Given the description of an element on the screen output the (x, y) to click on. 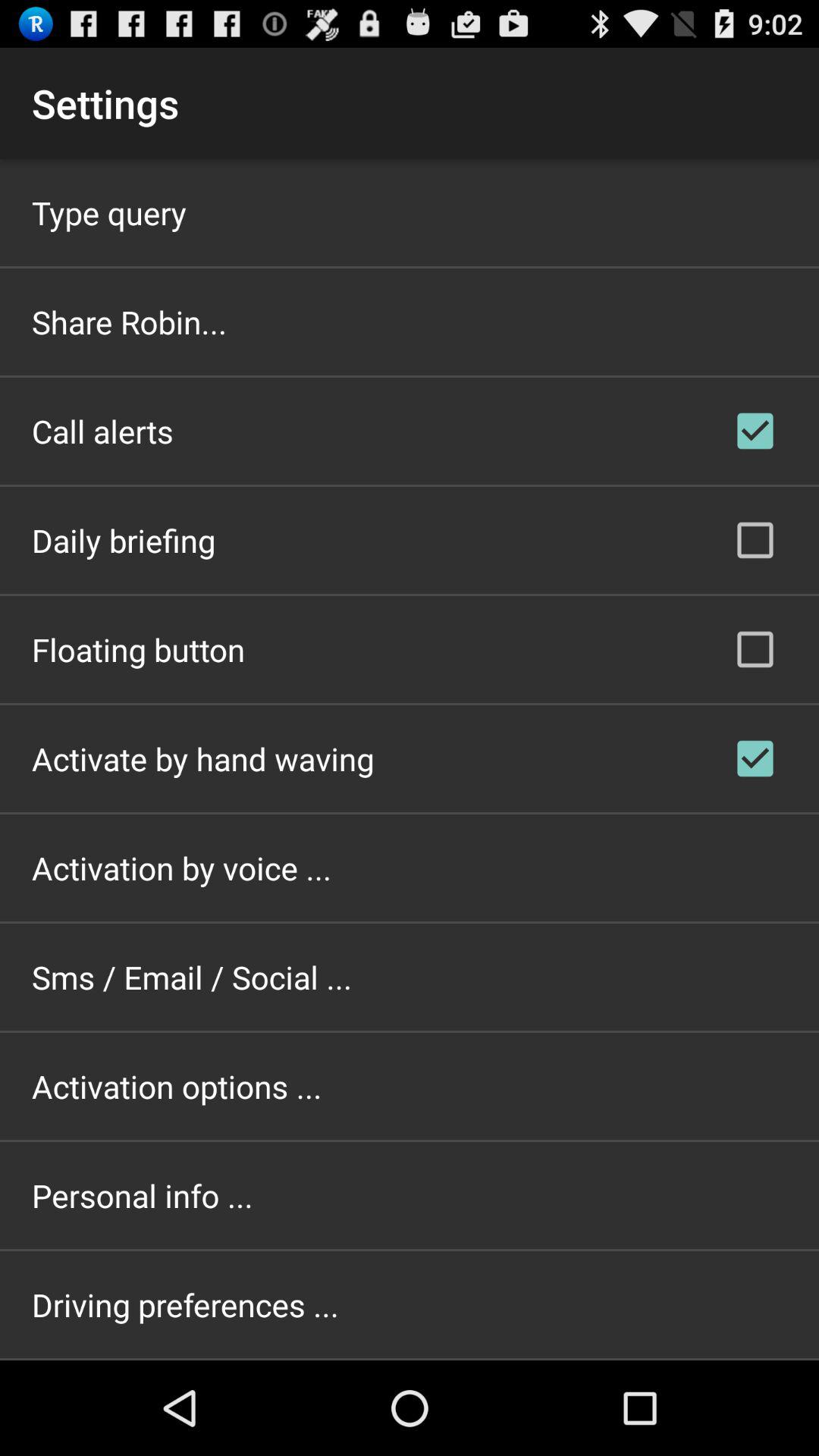
choose the icon below the settings app (108, 212)
